Given the description of an element on the screen output the (x, y) to click on. 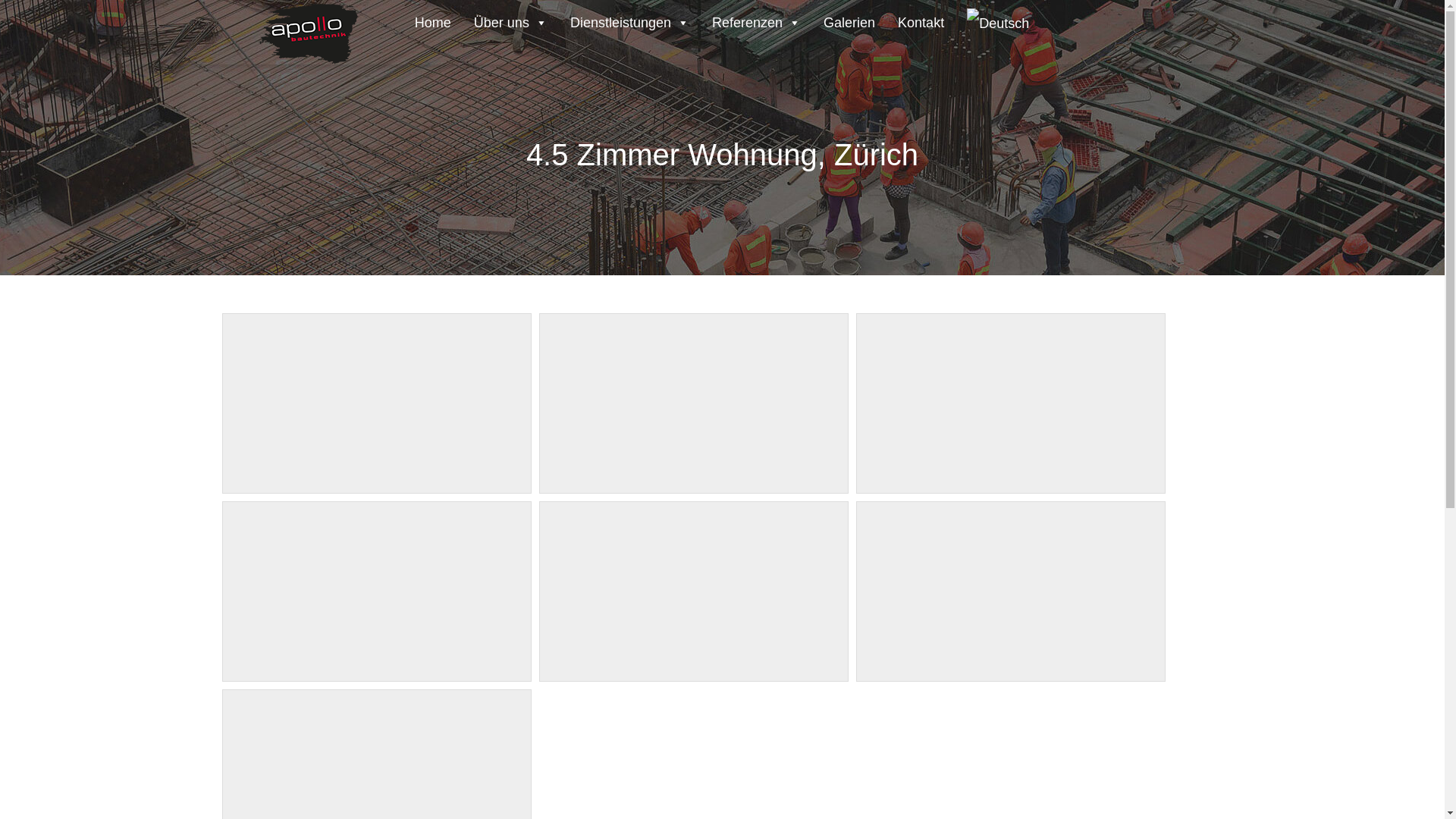
Galerien Element type: text (849, 19)
Referenzen Element type: text (756, 19)
Kontakt Element type: text (920, 19)
Home Element type: text (432, 19)
Dienstleistungen Element type: text (629, 19)
